Given the description of an element on the screen output the (x, y) to click on. 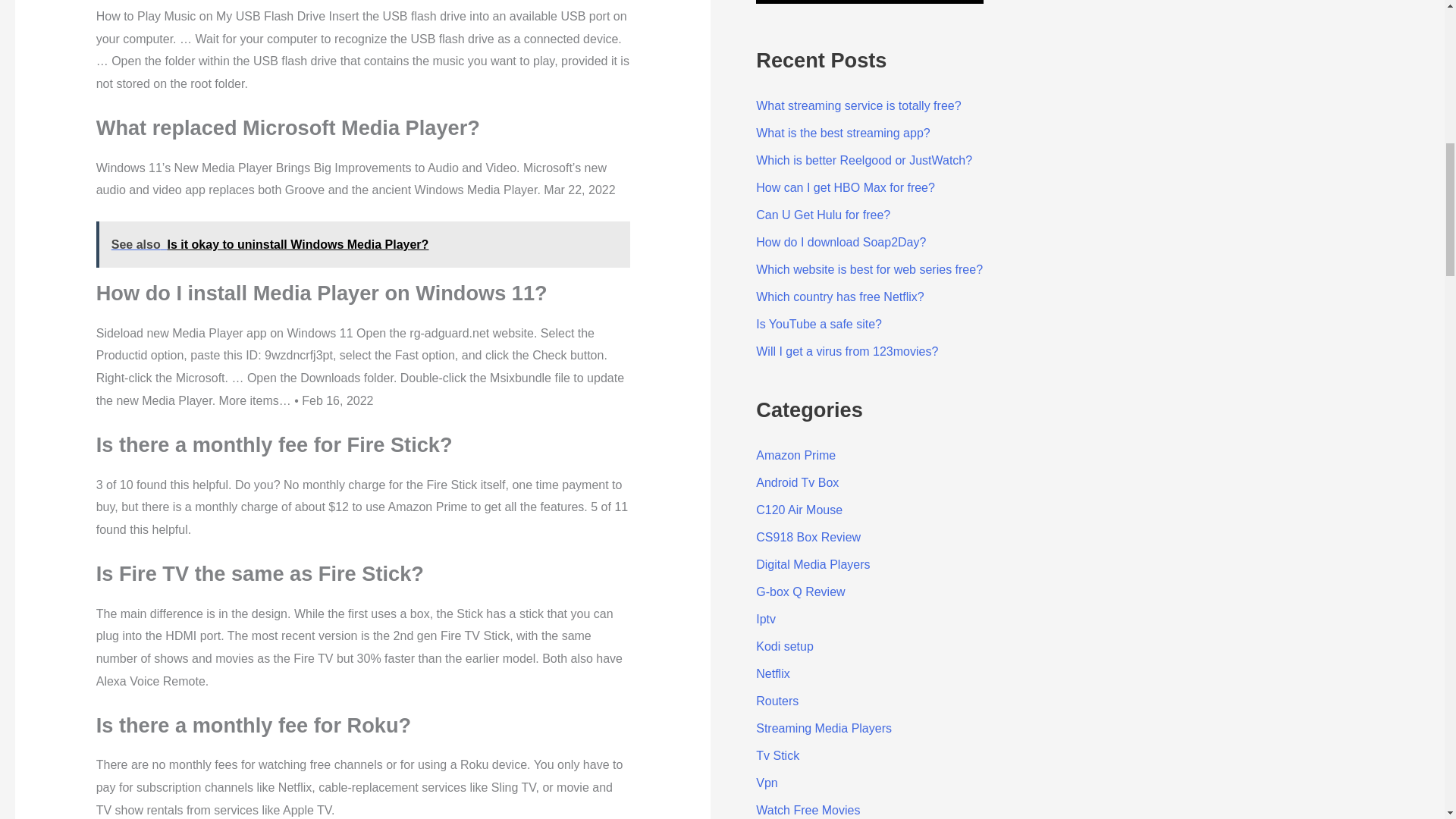
See also  Is it okay to uninstall Windows Media Player? (363, 244)
